Given the description of an element on the screen output the (x, y) to click on. 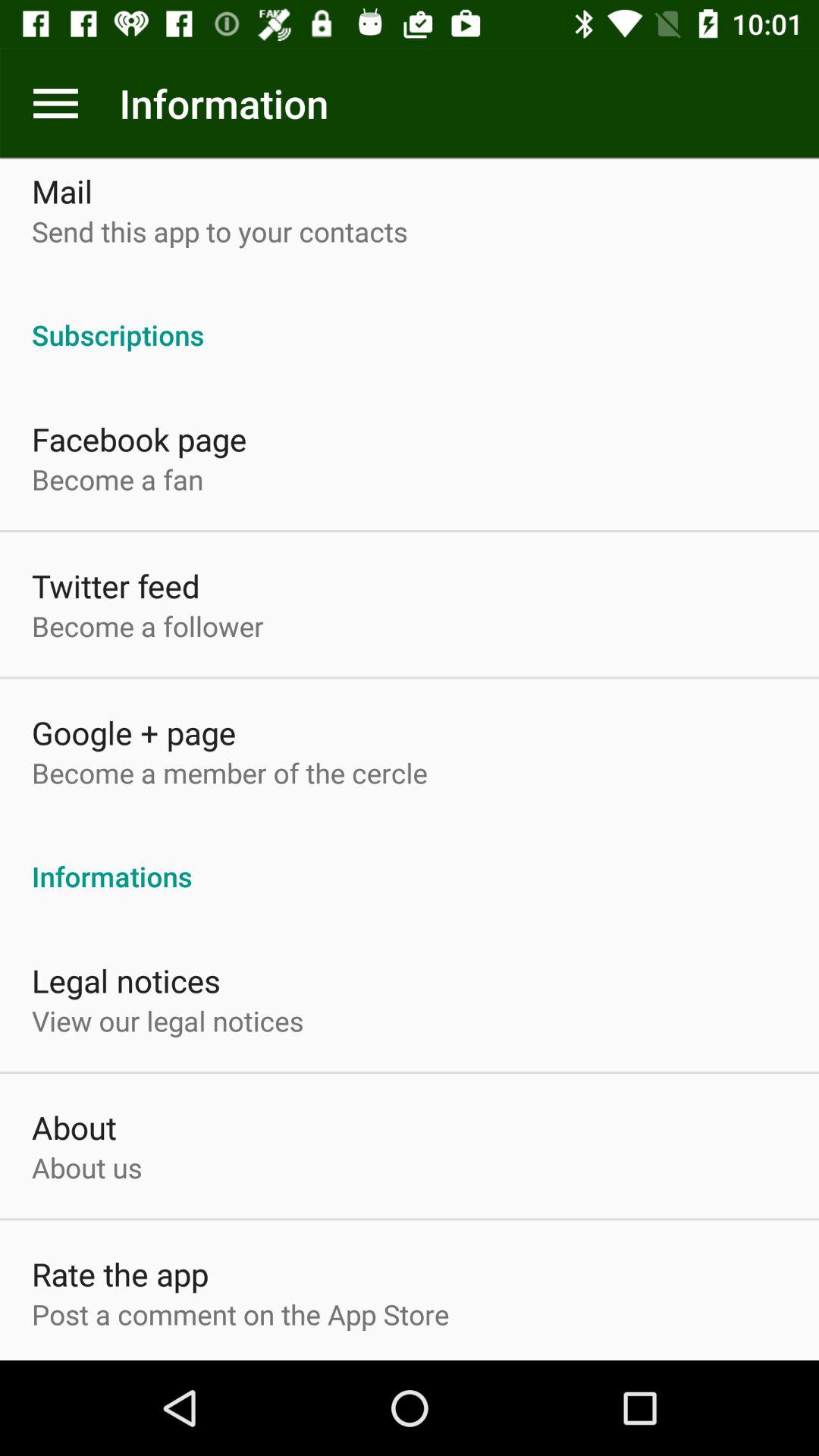
press item below send this app icon (409, 318)
